Given the description of an element on the screen output the (x, y) to click on. 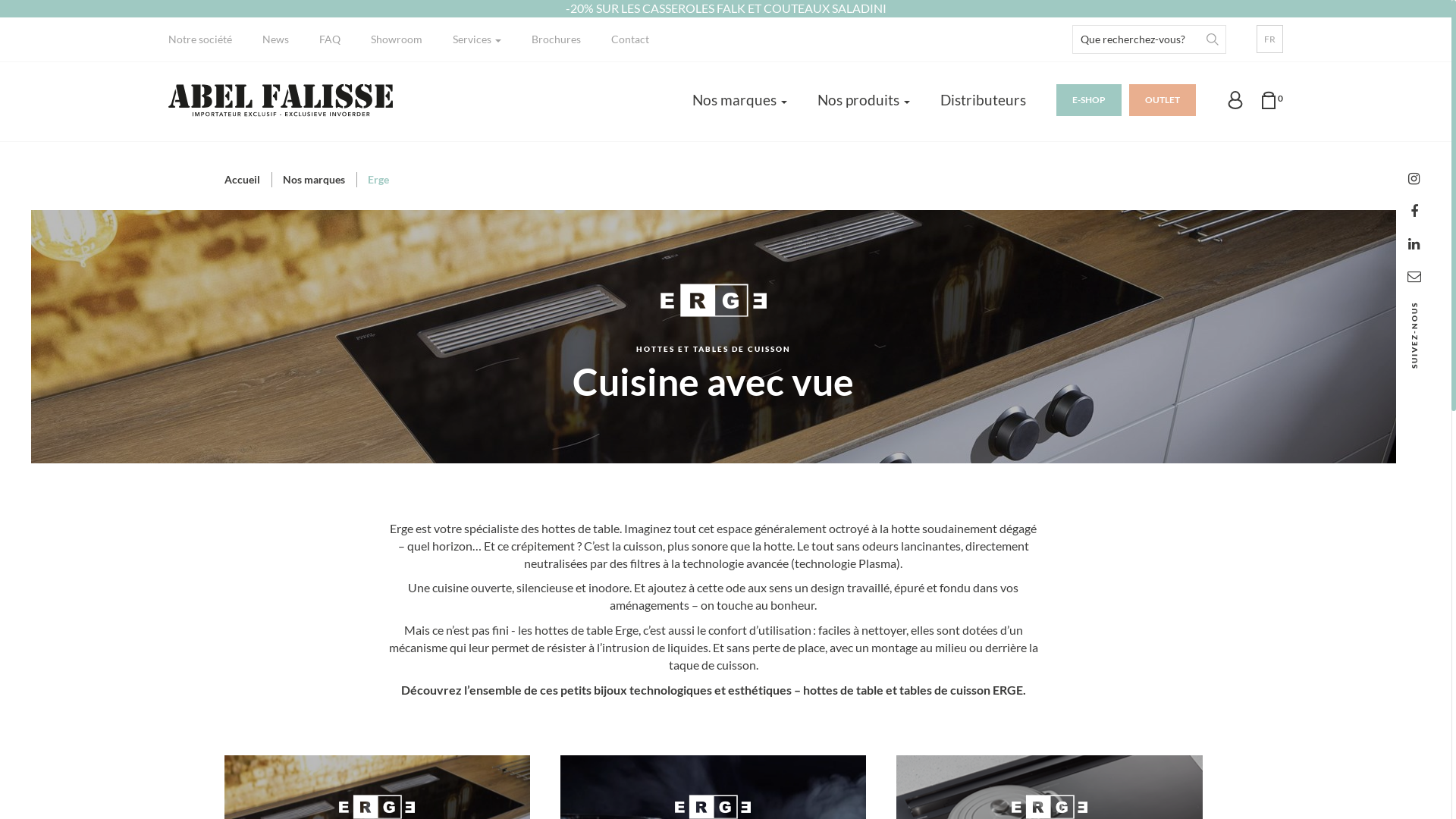
Showroom Element type: text (396, 38)
Contact Element type: text (630, 38)
E-SHOP Element type: text (1088, 100)
FR Element type: text (1269, 39)
OK Element type: text (1212, 39)
Nos marques Element type: text (313, 178)
News Element type: text (275, 38)
FAQ Element type: text (329, 38)
Distributeurs Element type: text (983, 99)
OUTLET Element type: text (1162, 100)
Brochures Element type: text (555, 38)
Nos marques Element type: text (739, 99)
0 Element type: text (1271, 100)
Services Element type: text (476, 38)
Nos produits Element type: text (863, 99)
Accueil Element type: text (242, 178)
